Given the description of an element on the screen output the (x, y) to click on. 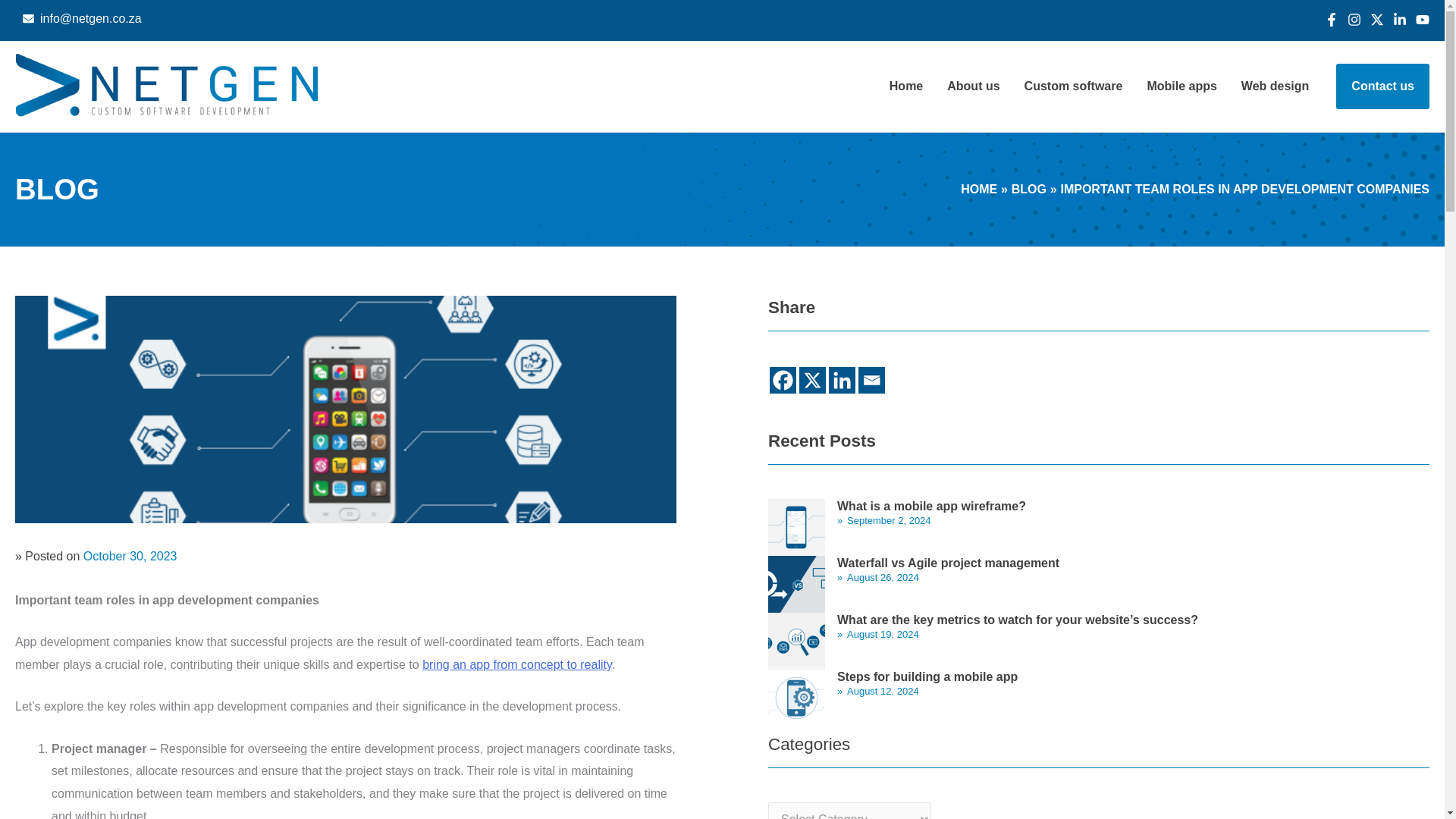
Mobile apps (1181, 86)
Facebook (783, 379)
About us (972, 86)
BLOG (1028, 188)
Steps for building a mobile app (927, 676)
bring an app from concept to reality (516, 664)
Waterfall vs Agile project management (948, 562)
Custom software (1073, 86)
Linkedin (842, 379)
What is a mobile app wireframe? (931, 505)
